Given the description of an element on the screen output the (x, y) to click on. 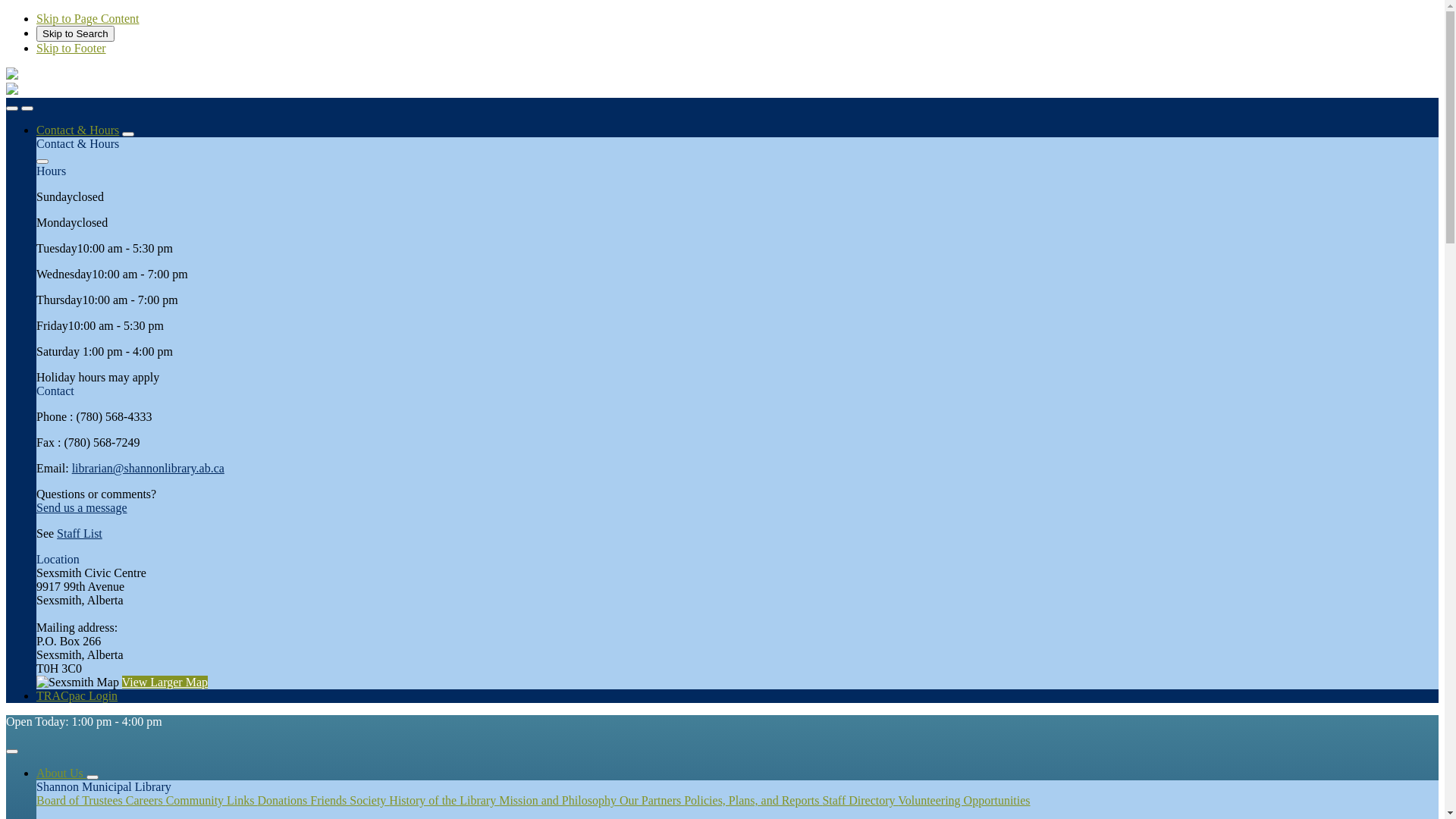
Community Links Element type: text (211, 799)
Donations Element type: text (283, 799)
Staff List Element type: text (79, 533)
View Larger Map Element type: text (164, 681)
Friends Society Element type: text (349, 799)
Board of Trustees Element type: text (80, 799)
Careers Element type: text (145, 799)
Shannon Municipal Library Element type: hover (12, 90)
librarian@shannonlibrary.ab.ca Element type: text (148, 467)
Skip to Page Content Element type: text (87, 18)
TRACpac Login Element type: text (76, 695)
Staff Directory Element type: text (859, 799)
Contact & Hours Element type: text (77, 129)
Policies, Plans, and Reports Element type: text (753, 799)
Skip to Search Element type: text (75, 33)
Volunteering Opportunities Element type: text (963, 799)
History of the Library Element type: text (443, 799)
Skip to Footer Element type: text (71, 47)
Our Partners Element type: text (651, 799)
Mission and Philosophy Element type: text (558, 799)
About Us Element type: text (61, 772)
Send us a message Element type: text (81, 507)
